Given the description of an element on the screen output the (x, y) to click on. 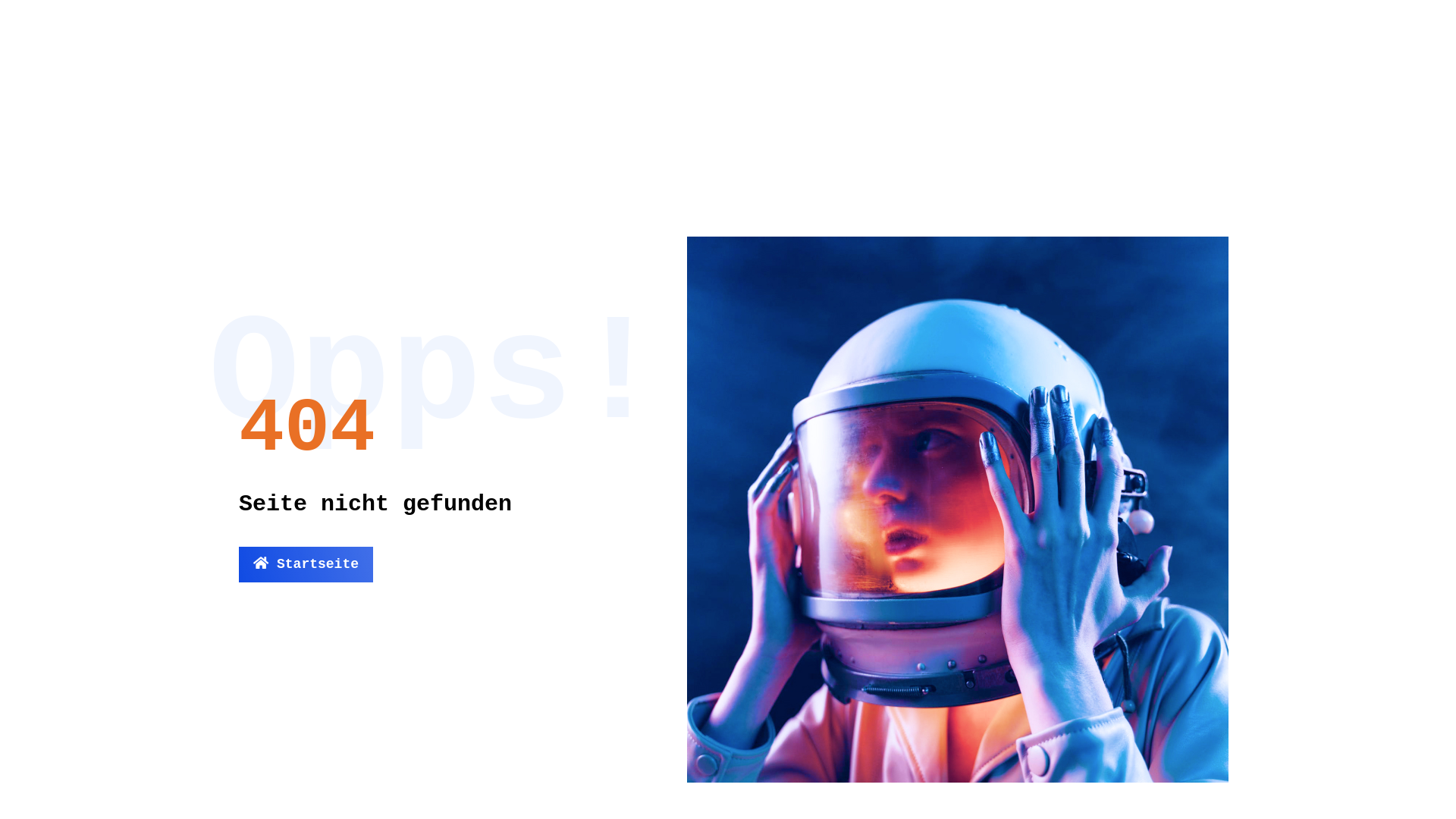
Startseite Element type: text (305, 564)
